Given the description of an element on the screen output the (x, y) to click on. 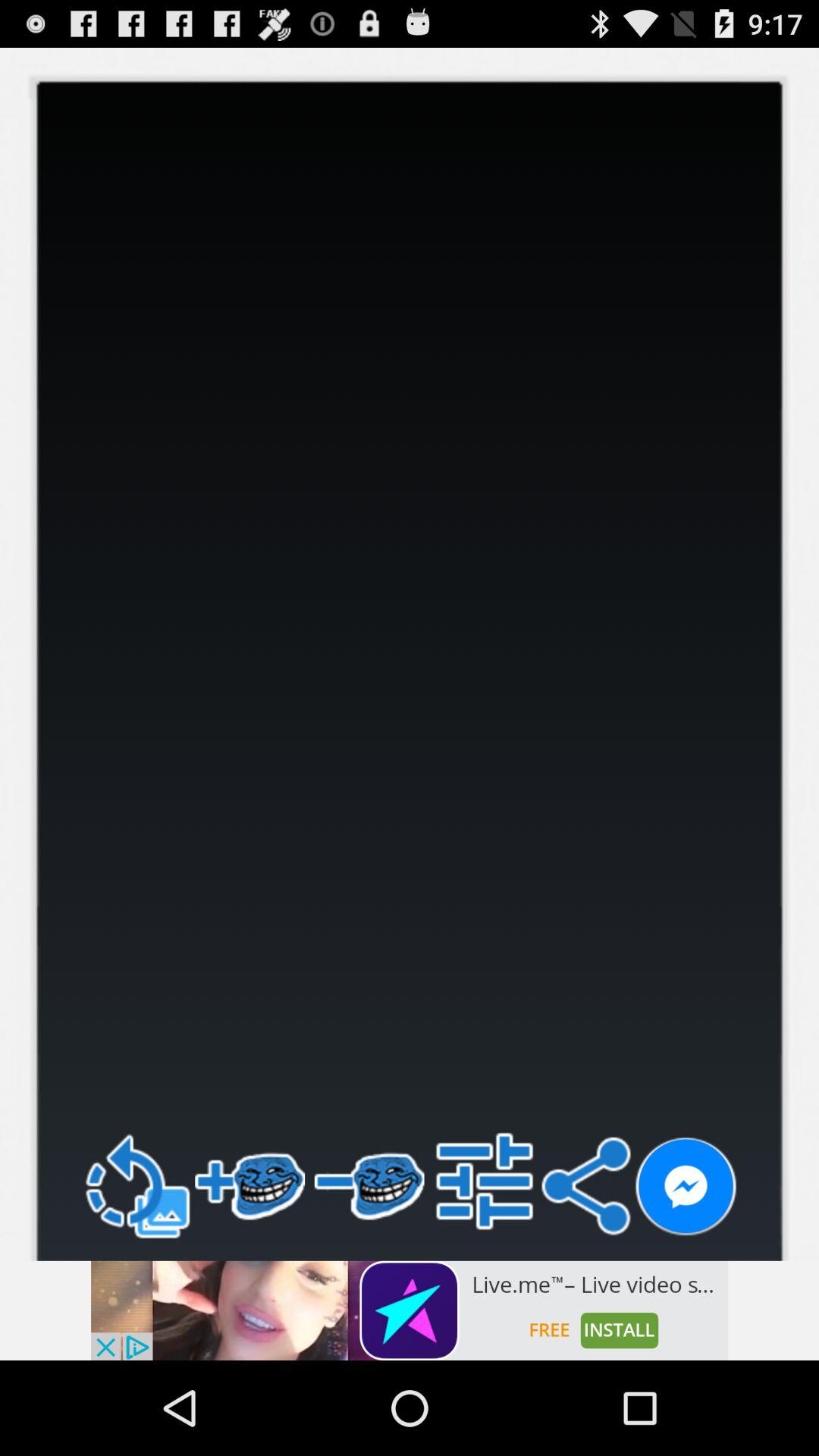
go back (136, 1186)
